Given the description of an element on the screen output the (x, y) to click on. 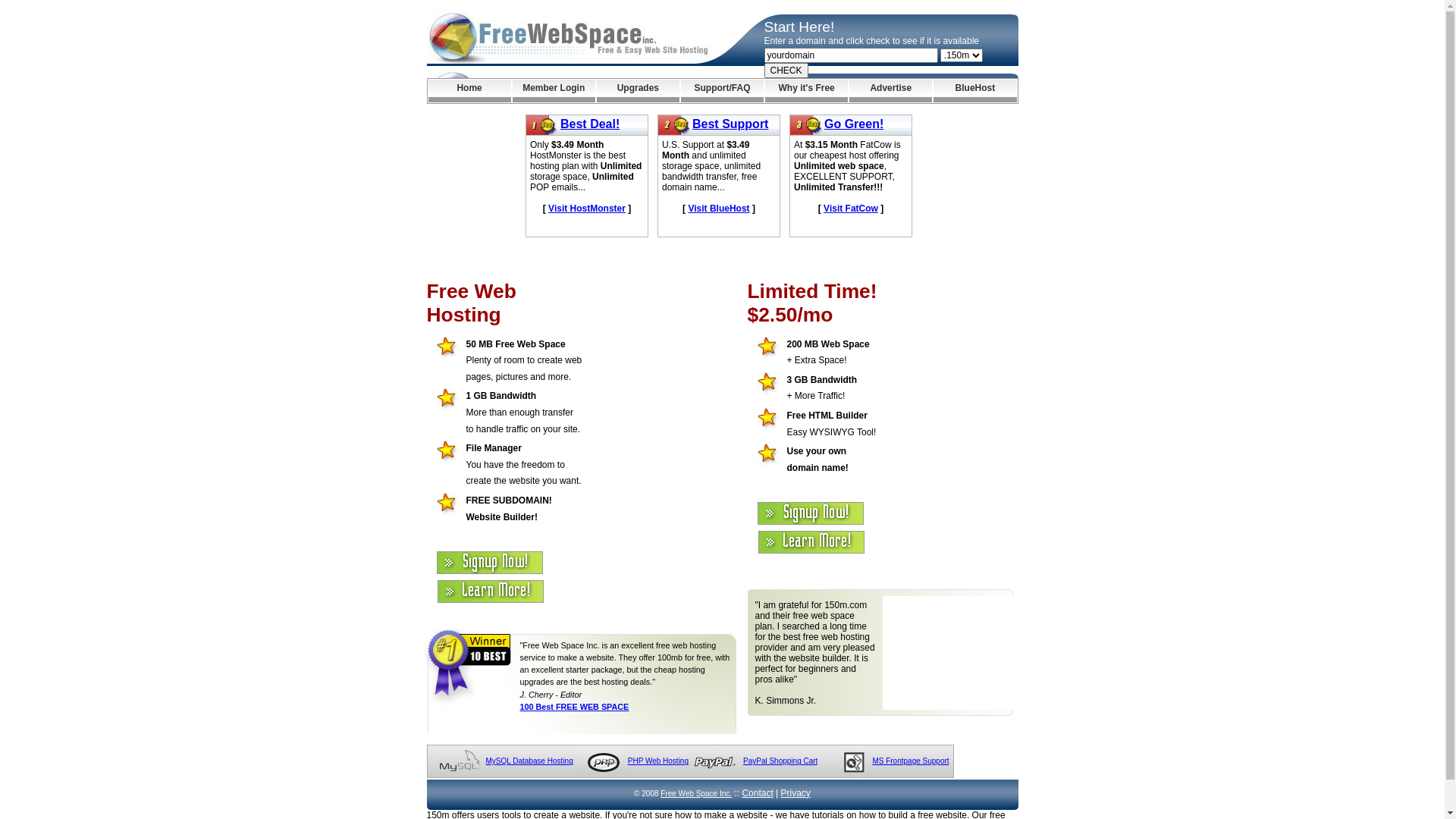
PayPal Shopping Cart Element type: text (780, 760)
BlueHost Element type: text (974, 90)
Privacy Element type: text (795, 792)
MySQL Database Hosting Element type: text (528, 760)
Member Login Element type: text (553, 90)
Contact Element type: text (756, 792)
Why it's Free Element type: text (806, 90)
Free Web Space Inc. Element type: text (695, 793)
Upgrades Element type: text (637, 90)
PHP Web Hosting Element type: text (657, 760)
Home Element type: text (468, 90)
Advertise Element type: text (890, 90)
100 Best FREE WEB SPACE Element type: text (574, 706)
Support/FAQ Element type: text (721, 90)
CHECK Element type: text (786, 70)
MS Frontpage Support Element type: text (910, 760)
